Given the description of an element on the screen output the (x, y) to click on. 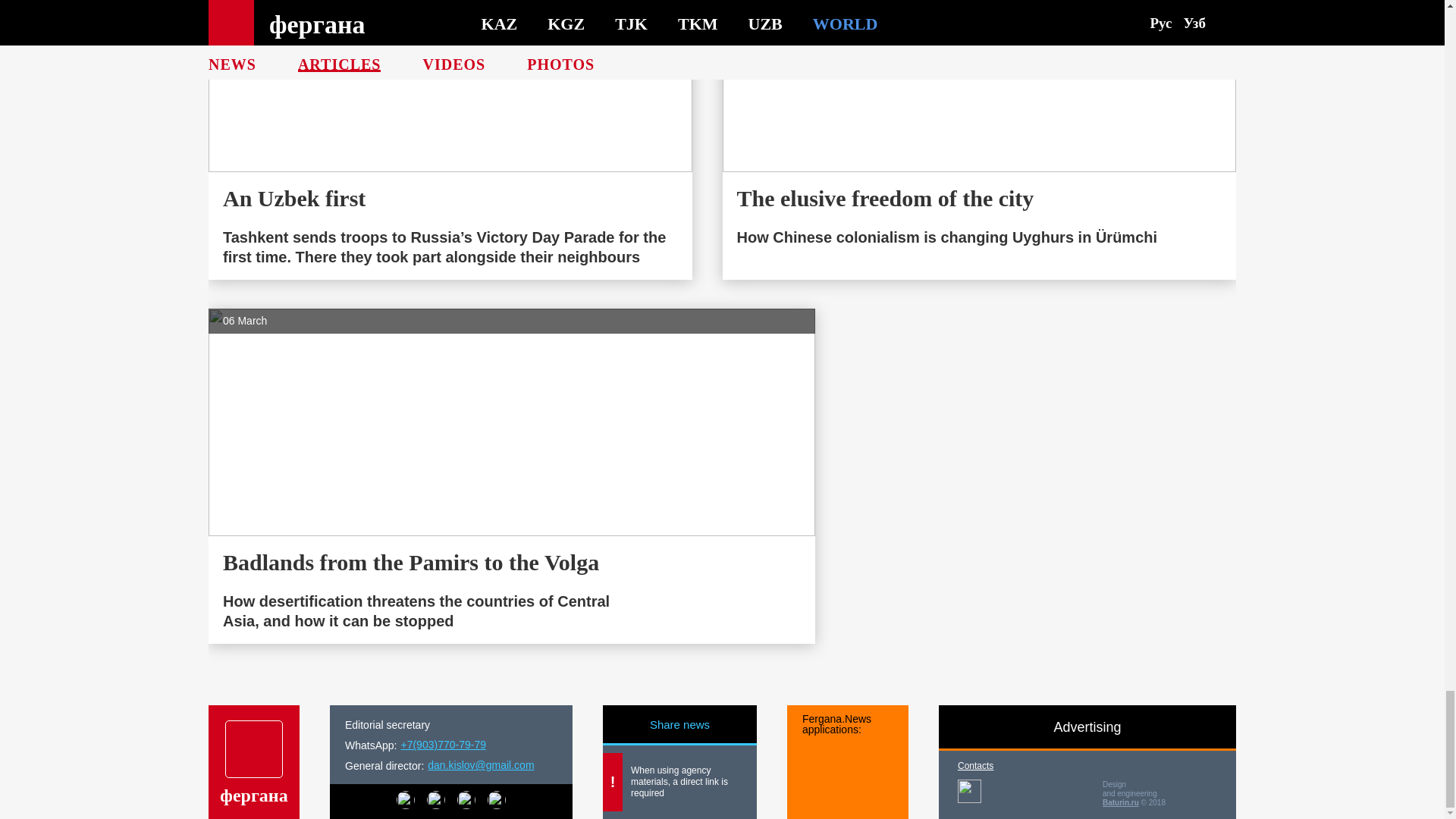
LiveInternet (969, 791)
